Given the description of an element on the screen output the (x, y) to click on. 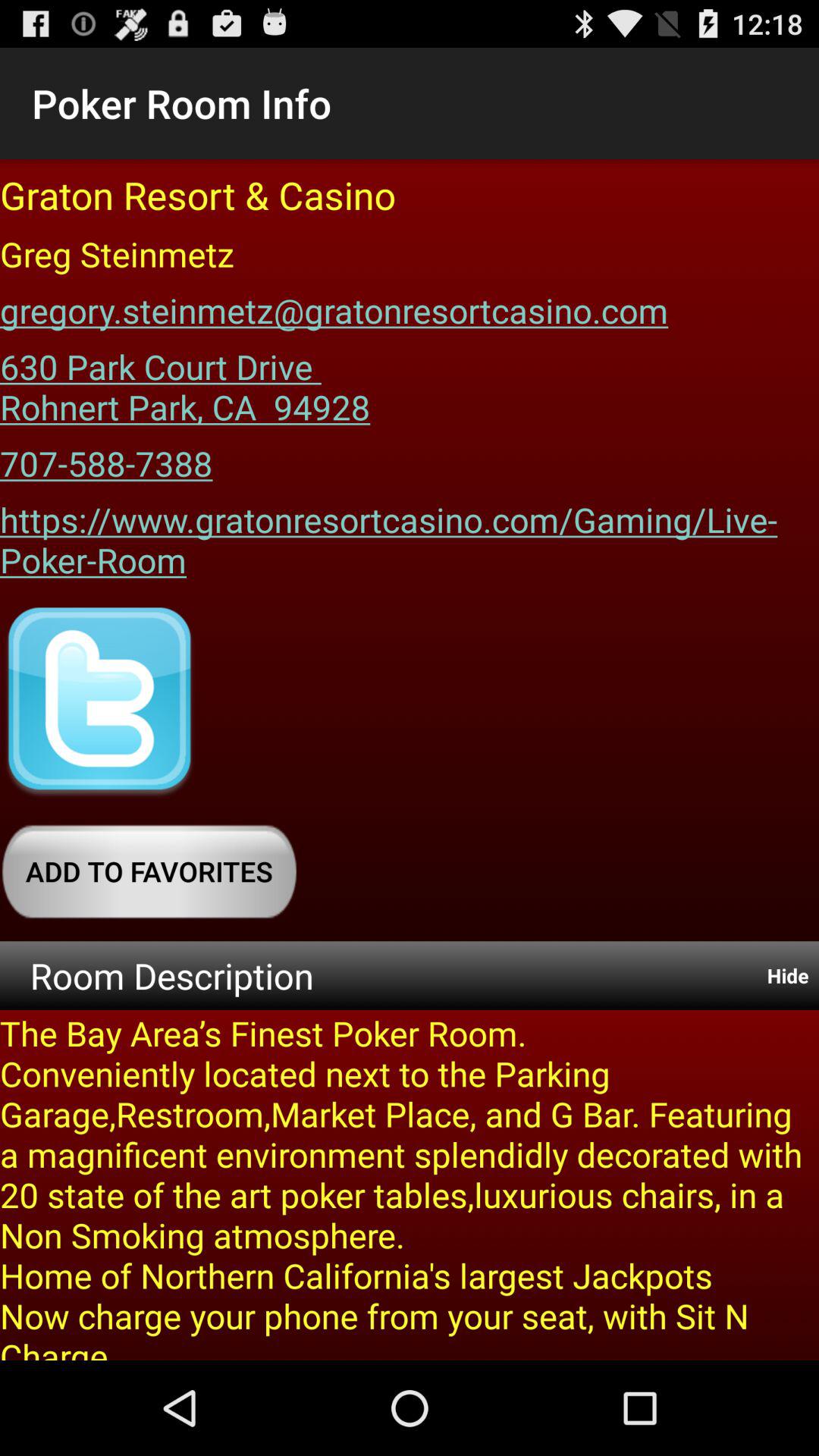
choose the item below the gregory steinmetz gratonresortcasino item (185, 381)
